Given the description of an element on the screen output the (x, y) to click on. 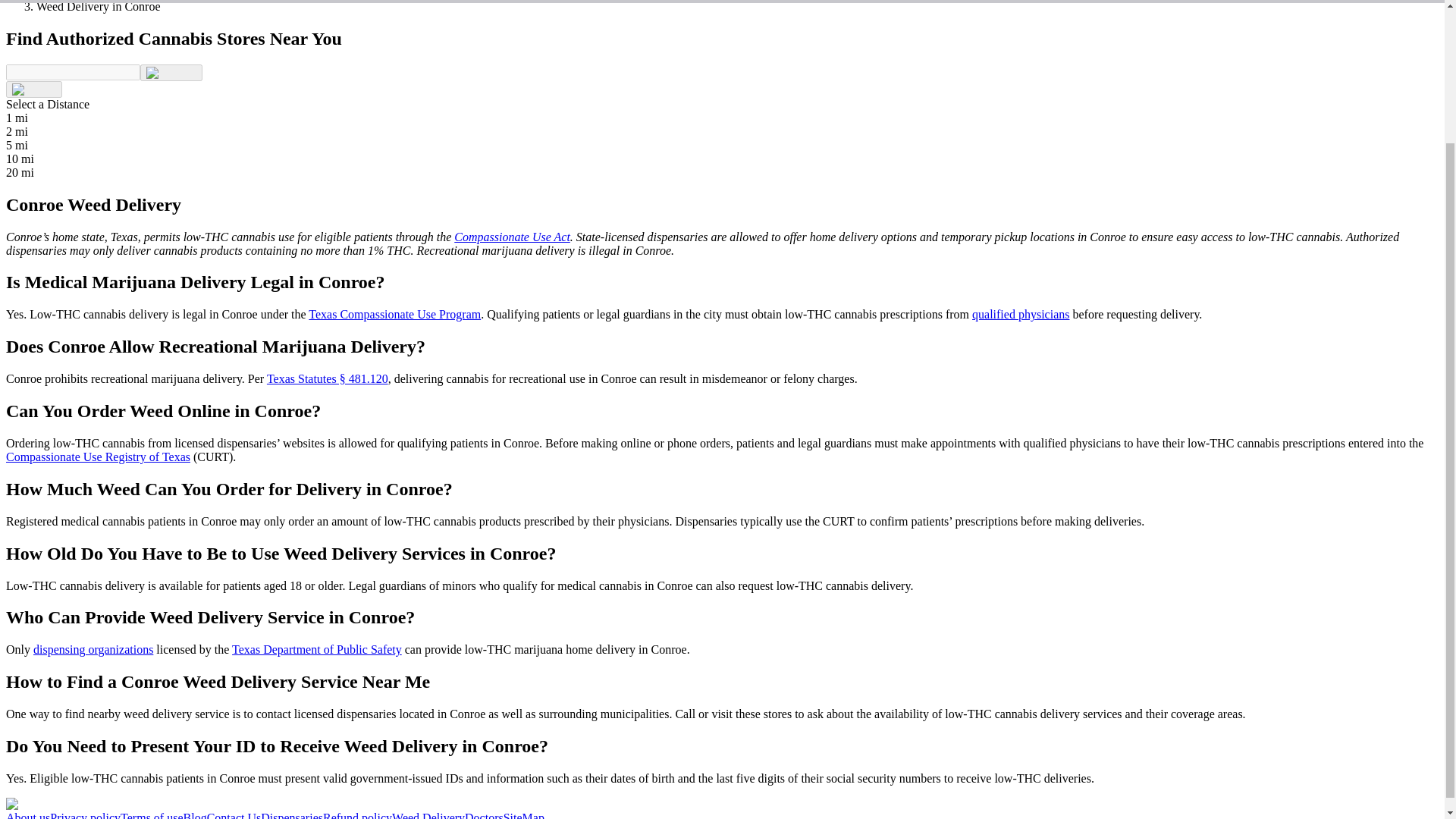
qualified physicians (1020, 314)
Compassionate Use Act (512, 236)
Texas Compassionate Use Program (394, 314)
dispensing organizations (92, 649)
Compassionate Use Registry of Texas (97, 456)
Texas Department of Public Safety (316, 649)
